Given the description of an element on the screen output the (x, y) to click on. 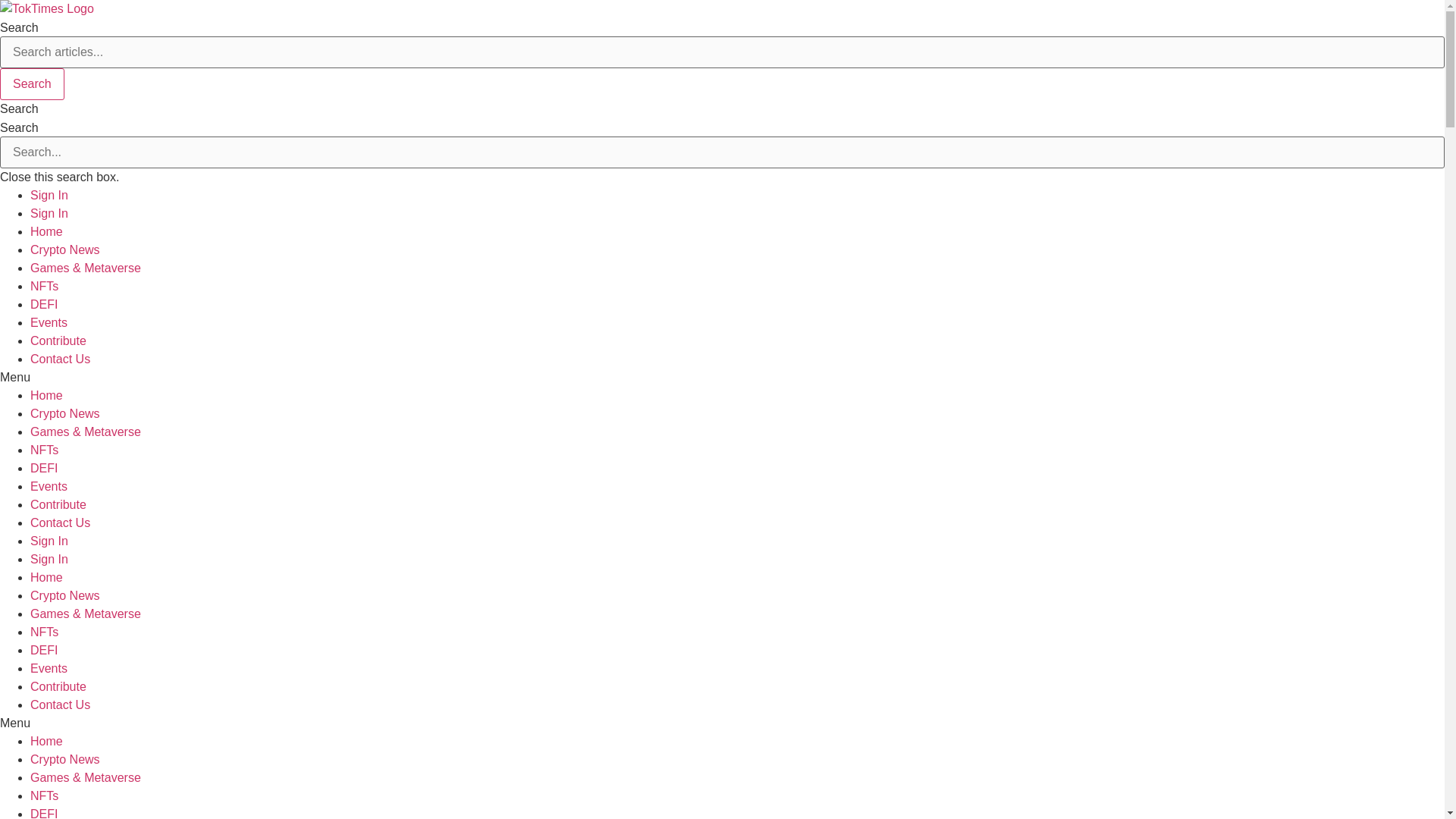
Home (46, 740)
DEFI (44, 304)
Sign In (49, 195)
Events (48, 322)
Events (48, 486)
Contribute (57, 340)
Home (46, 395)
Crypto News (65, 413)
Sign In (49, 213)
NFTs (44, 631)
